Given the description of an element on the screen output the (x, y) to click on. 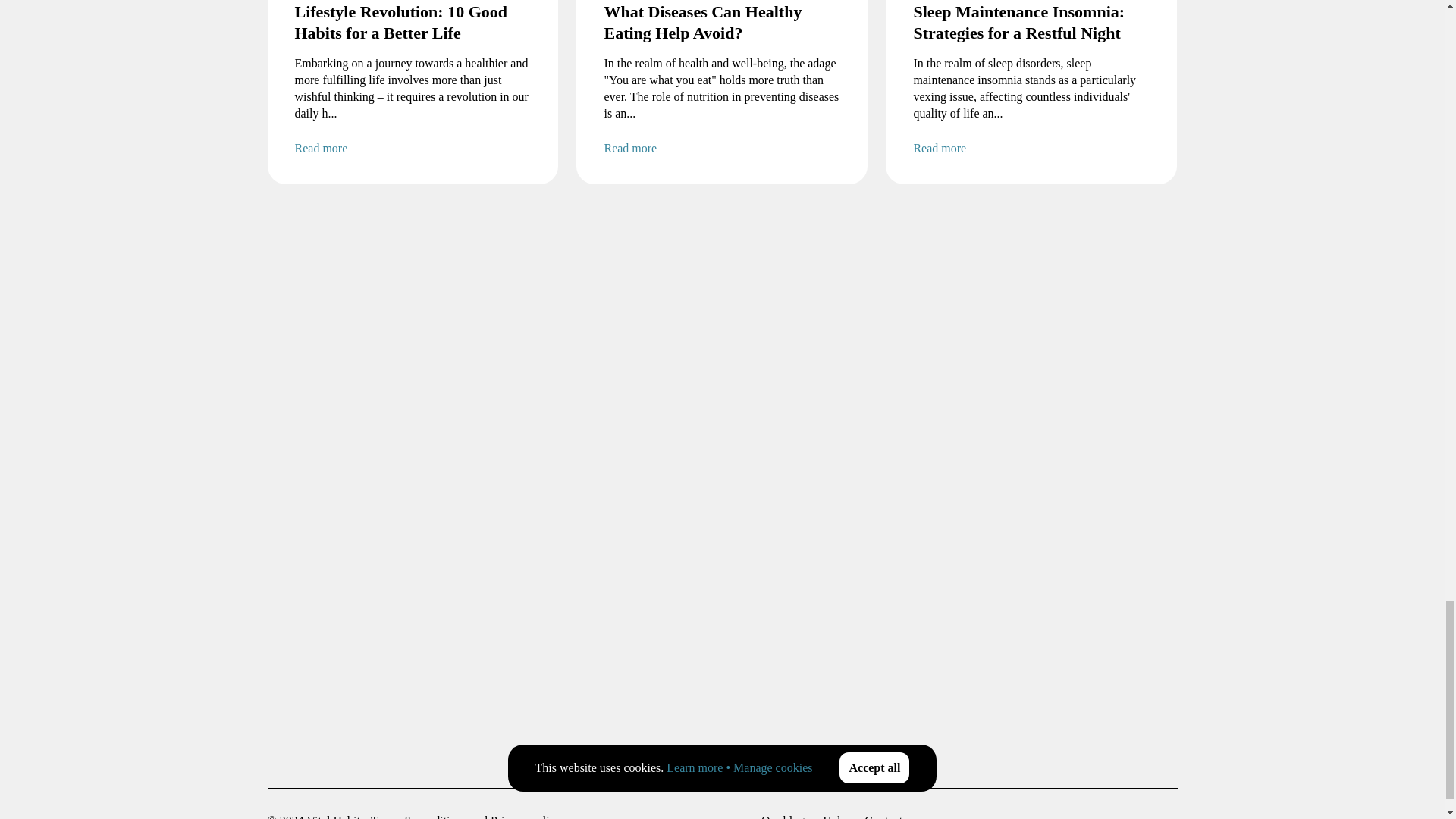
Read more (412, 148)
Lifestyle Revolution: 10 Good Habits for a Better Life (412, 22)
